Given the description of an element on the screen output the (x, y) to click on. 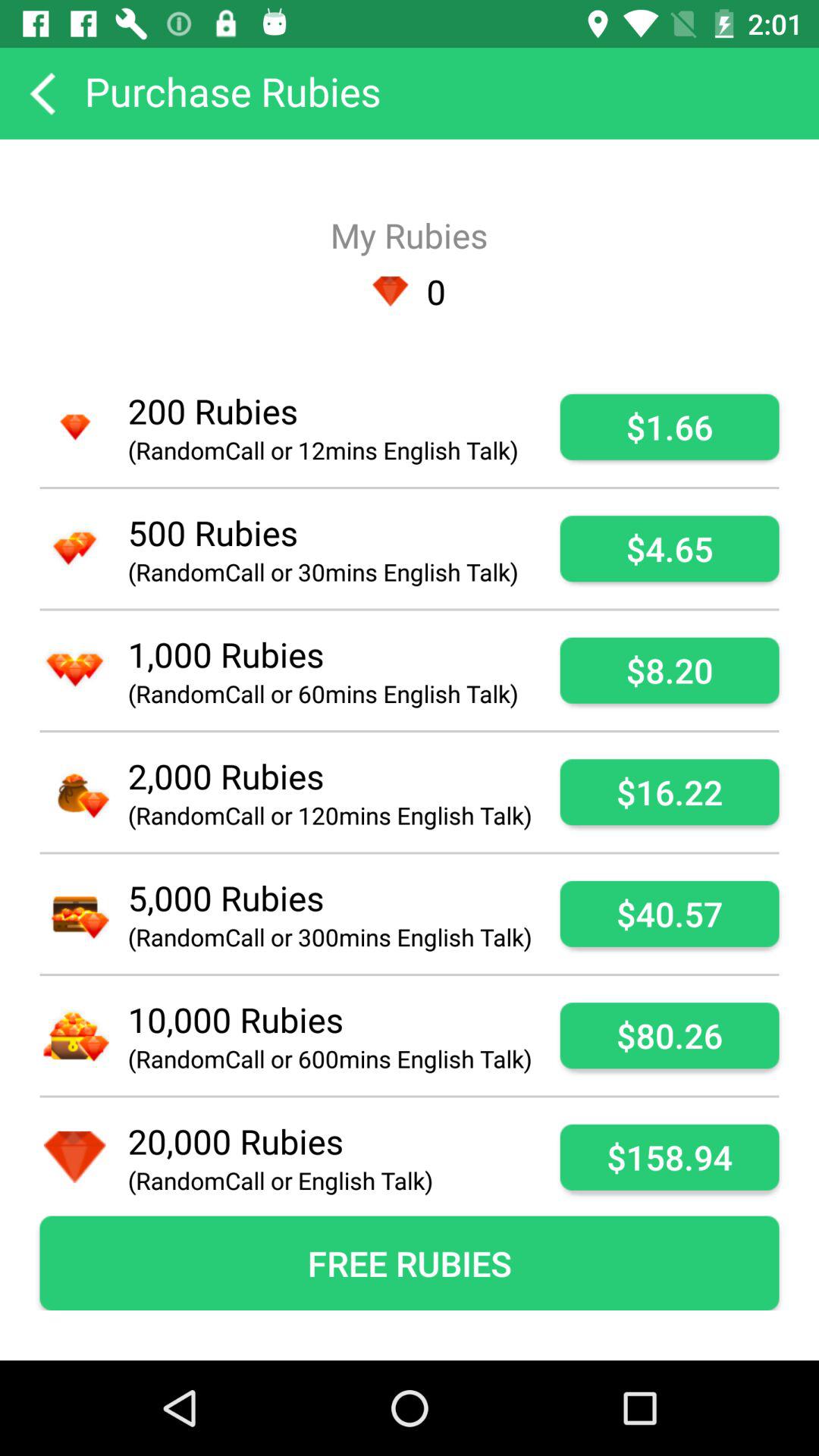
scroll until free rubies (409, 1262)
